Given the description of an element on the screen output the (x, y) to click on. 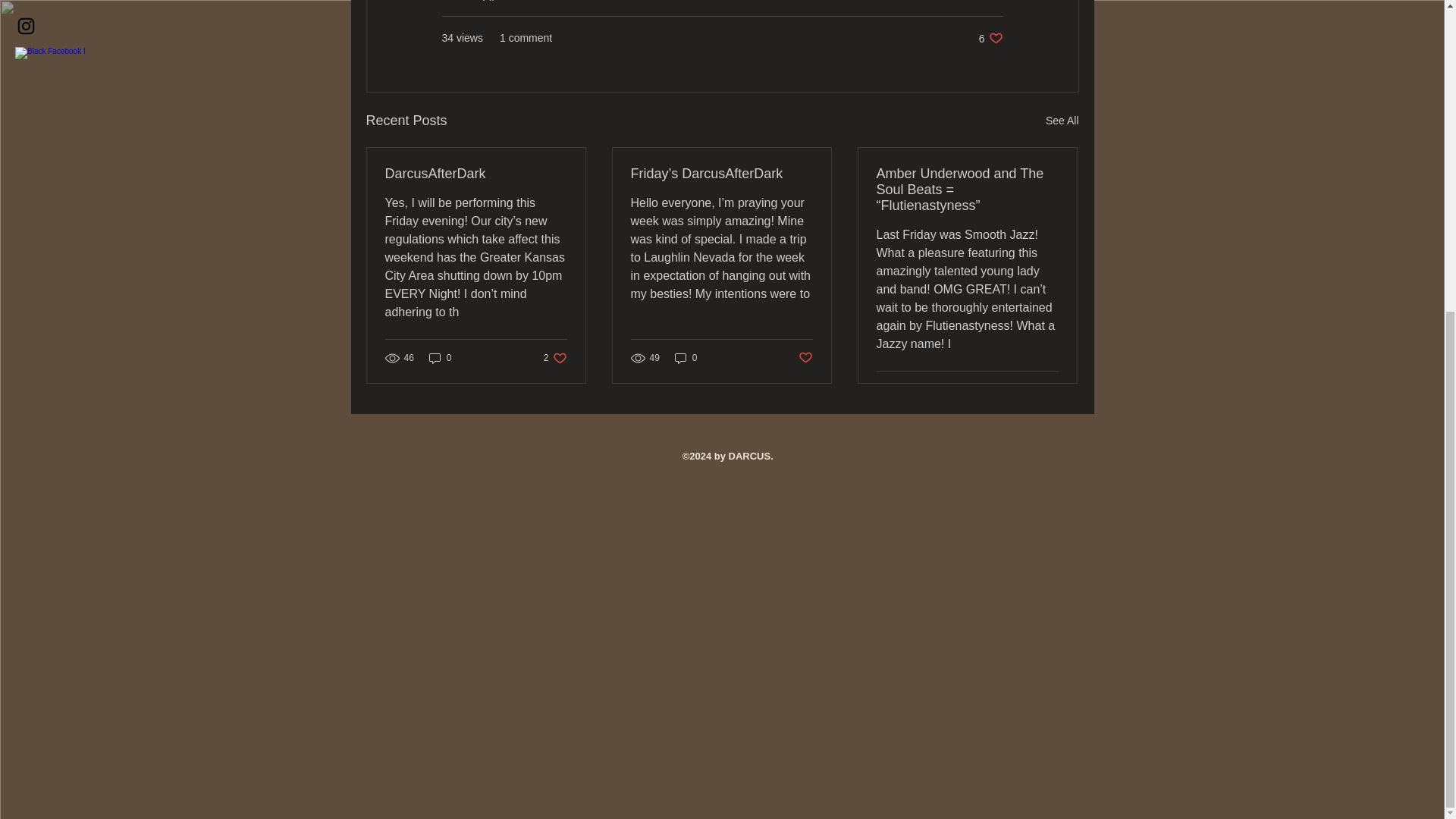
0 (990, 38)
See All (440, 357)
DarcusAfterDark (1061, 120)
0 (476, 173)
2 likes. Post not marked as liked (555, 357)
Post not marked as liked (685, 357)
